Given the description of an element on the screen output the (x, y) to click on. 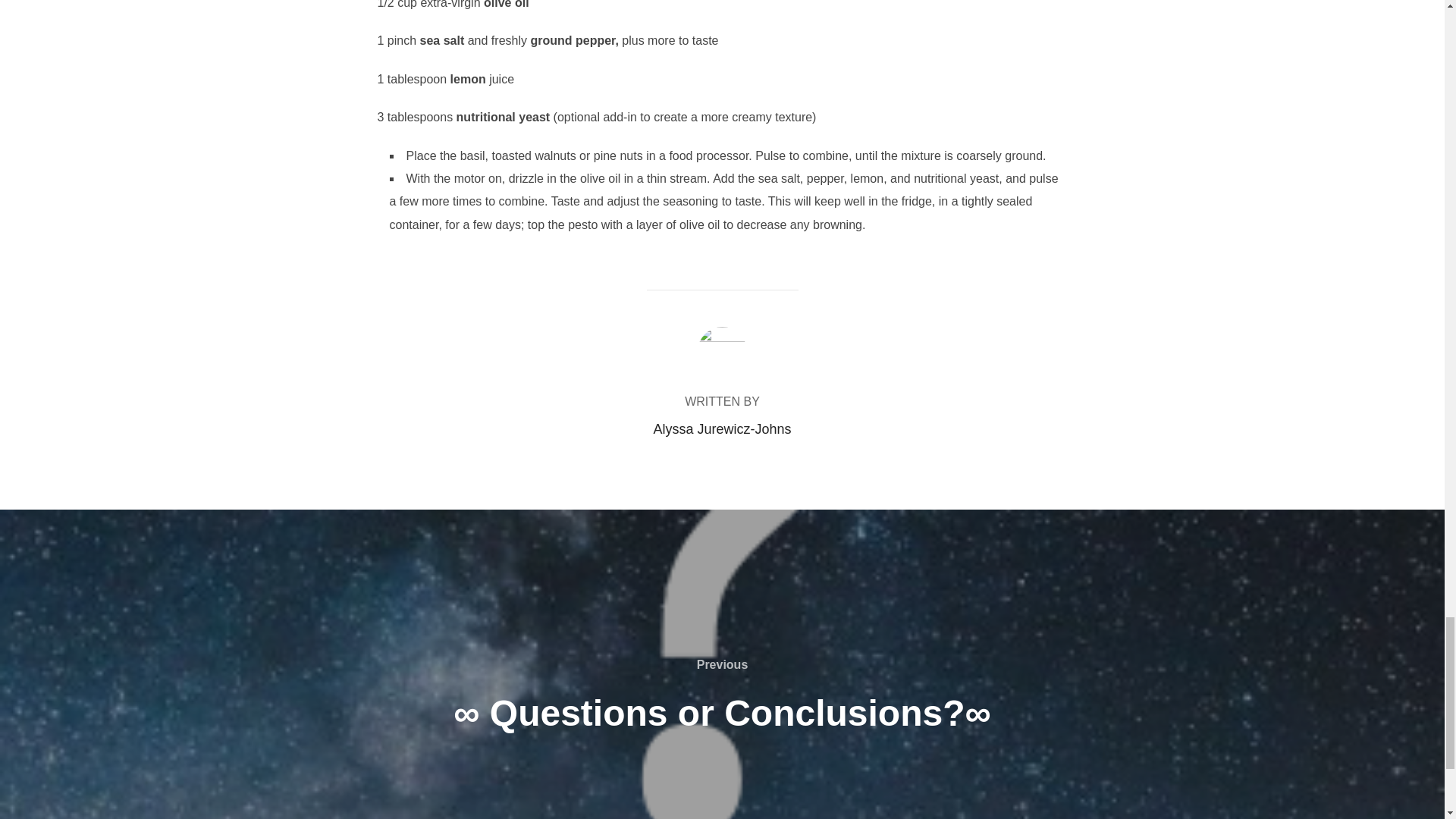
Alyssa Jurewicz-Johns (721, 428)
Posts by Alyssa Jurewicz-Johns (721, 428)
